Given the description of an element on the screen output the (x, y) to click on. 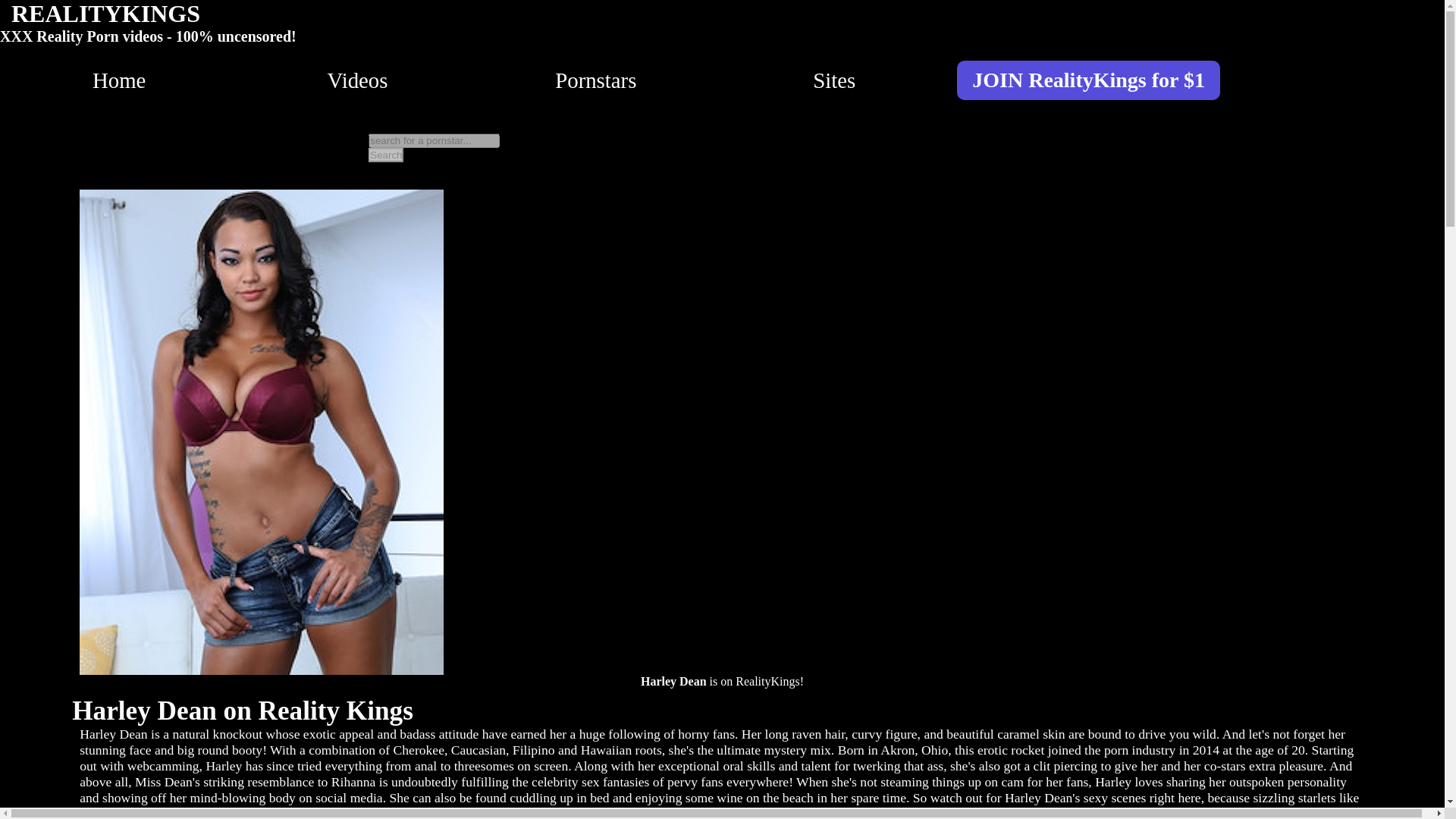
Search (385, 155)
Home (119, 79)
Search (385, 155)
REALITYKINGS (105, 13)
Videos (357, 79)
Sites (834, 79)
Pornstars (595, 79)
